Given the description of an element on the screen output the (x, y) to click on. 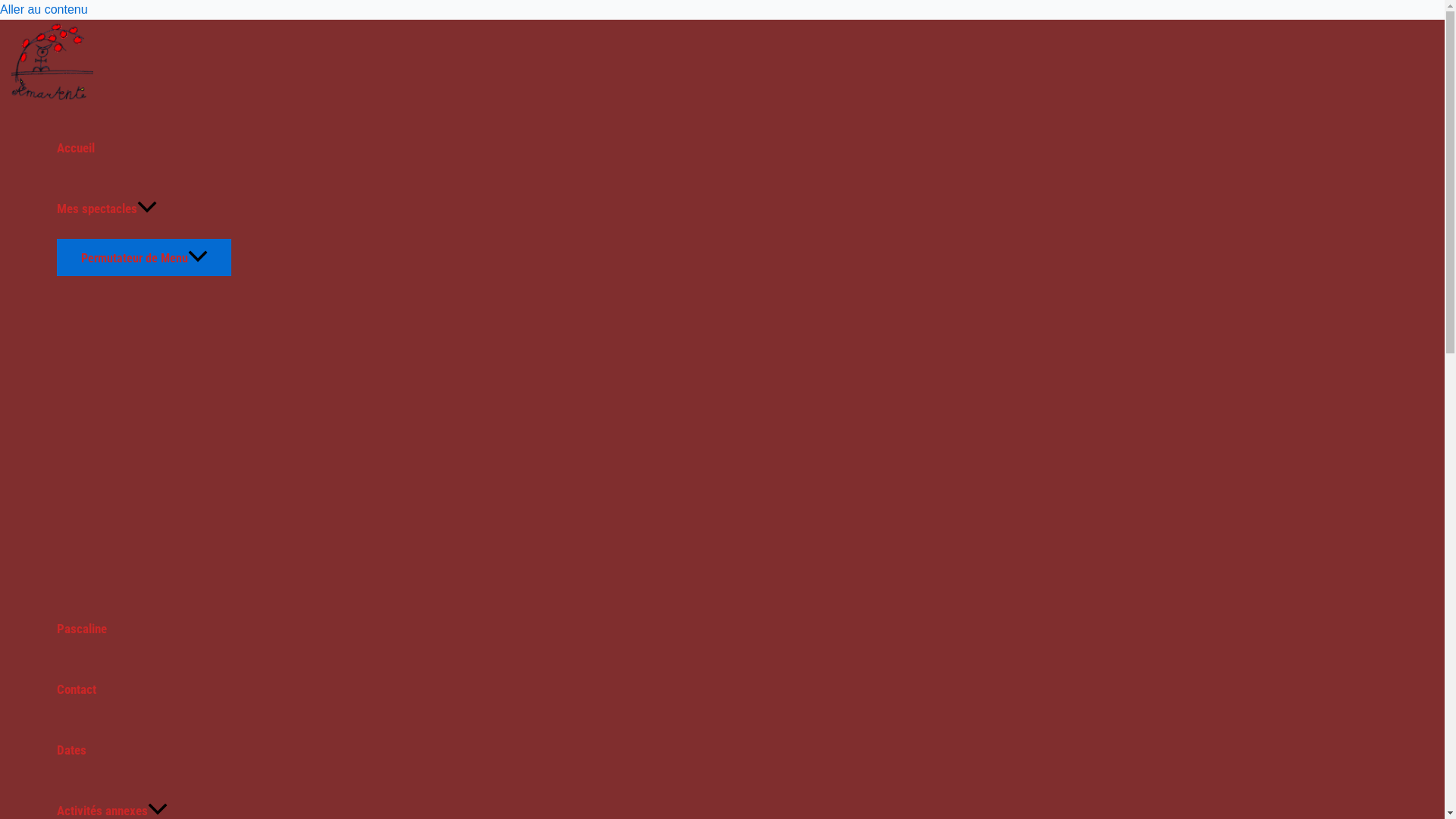
Mes spectacles Element type: text (143, 208)
Accueil Element type: text (143, 147)
Permutateur de Menu Element type: text (143, 257)
Dates Element type: text (143, 749)
Pascaline Element type: text (143, 628)
Aller au contenu Element type: text (43, 9)
Contact Element type: text (143, 688)
